Given the description of an element on the screen output the (x, y) to click on. 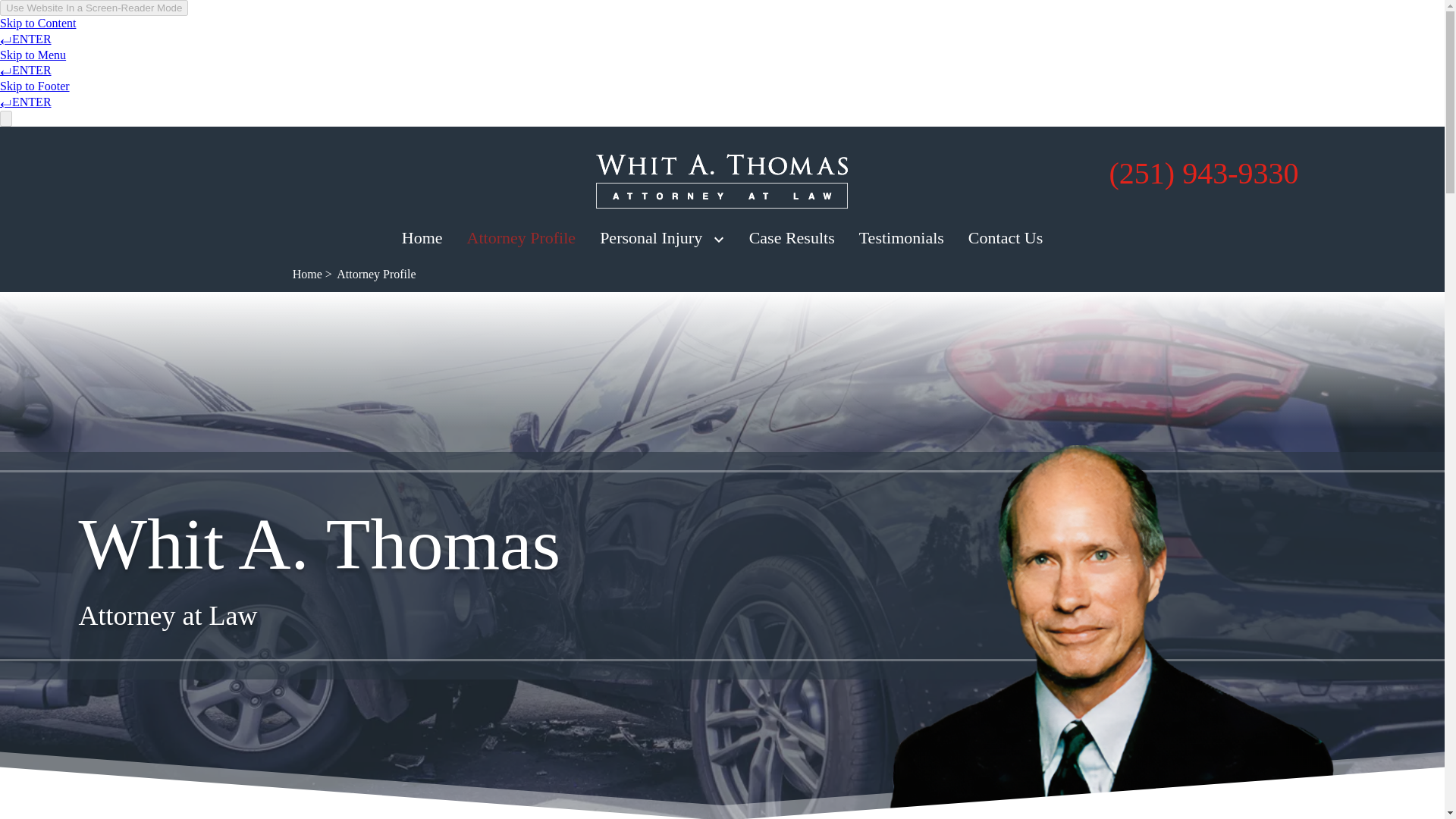
Testimonials (901, 238)
Attorney Profile (521, 238)
Home (421, 238)
Attorney Profile (376, 274)
Personal Injury (650, 238)
Contact Us (1005, 238)
Case Results (791, 238)
